Given the description of an element on the screen output the (x, y) to click on. 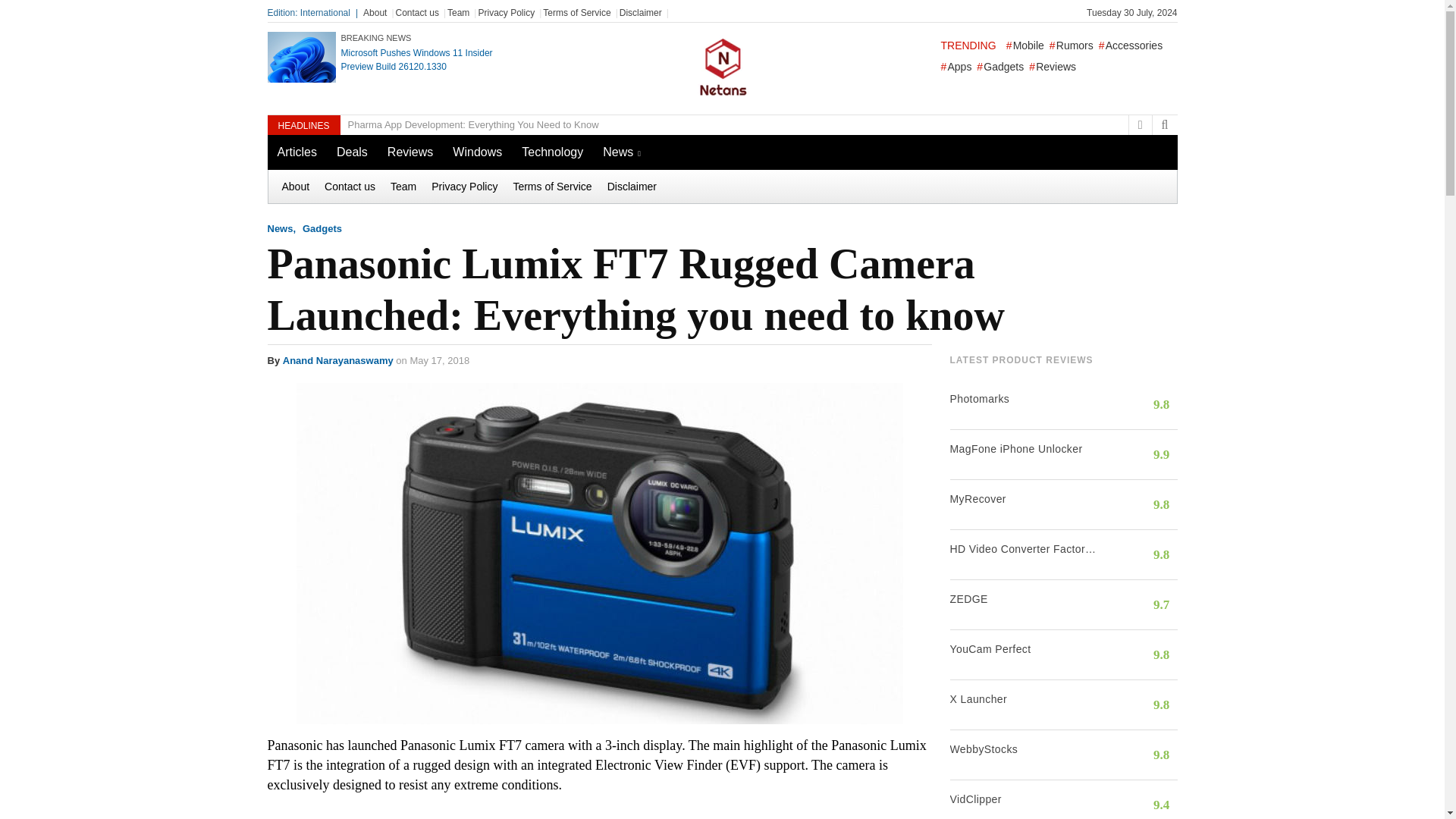
Pharma App Development: Everything You Need to Know (469, 125)
Mobile (1024, 45)
Accessories (1130, 45)
ZEDGE (1024, 598)
About (374, 12)
YouCam Perfect (1024, 648)
Photomarks (1024, 398)
Privacy Policy (505, 12)
VidClipper (1024, 798)
Gadgets (999, 66)
MyRecover (1024, 498)
WebbyStocks (1024, 749)
Posts by Anand Narayanaswamy (337, 360)
Rumors (1071, 45)
Team (457, 12)
